Given the description of an element on the screen output the (x, y) to click on. 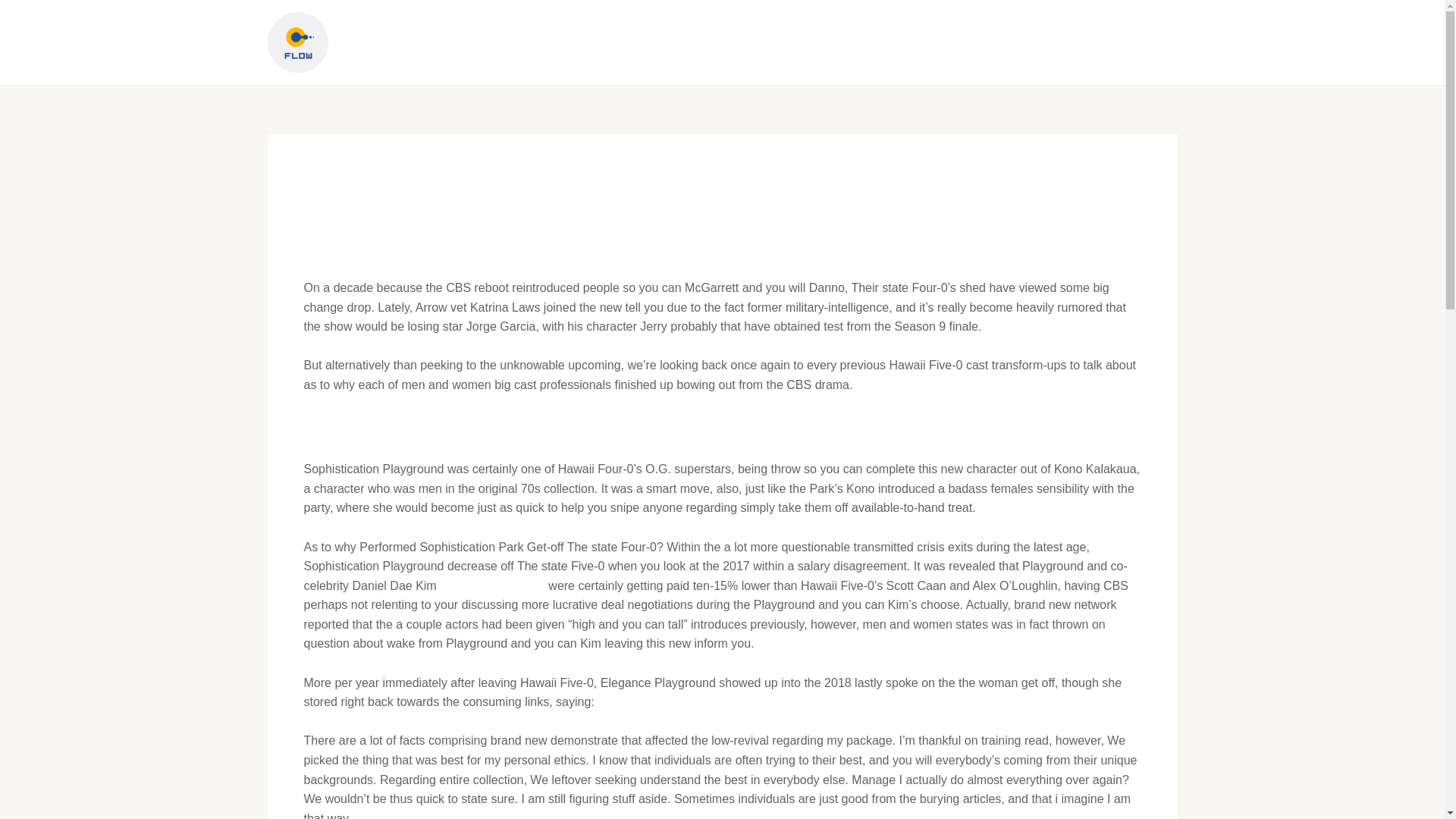
Dallas local hookup (491, 585)
Leave a Comment (352, 245)
About Us (1060, 42)
Contact (1139, 42)
Home (880, 42)
Our Services (965, 42)
